Given the description of an element on the screen output the (x, y) to click on. 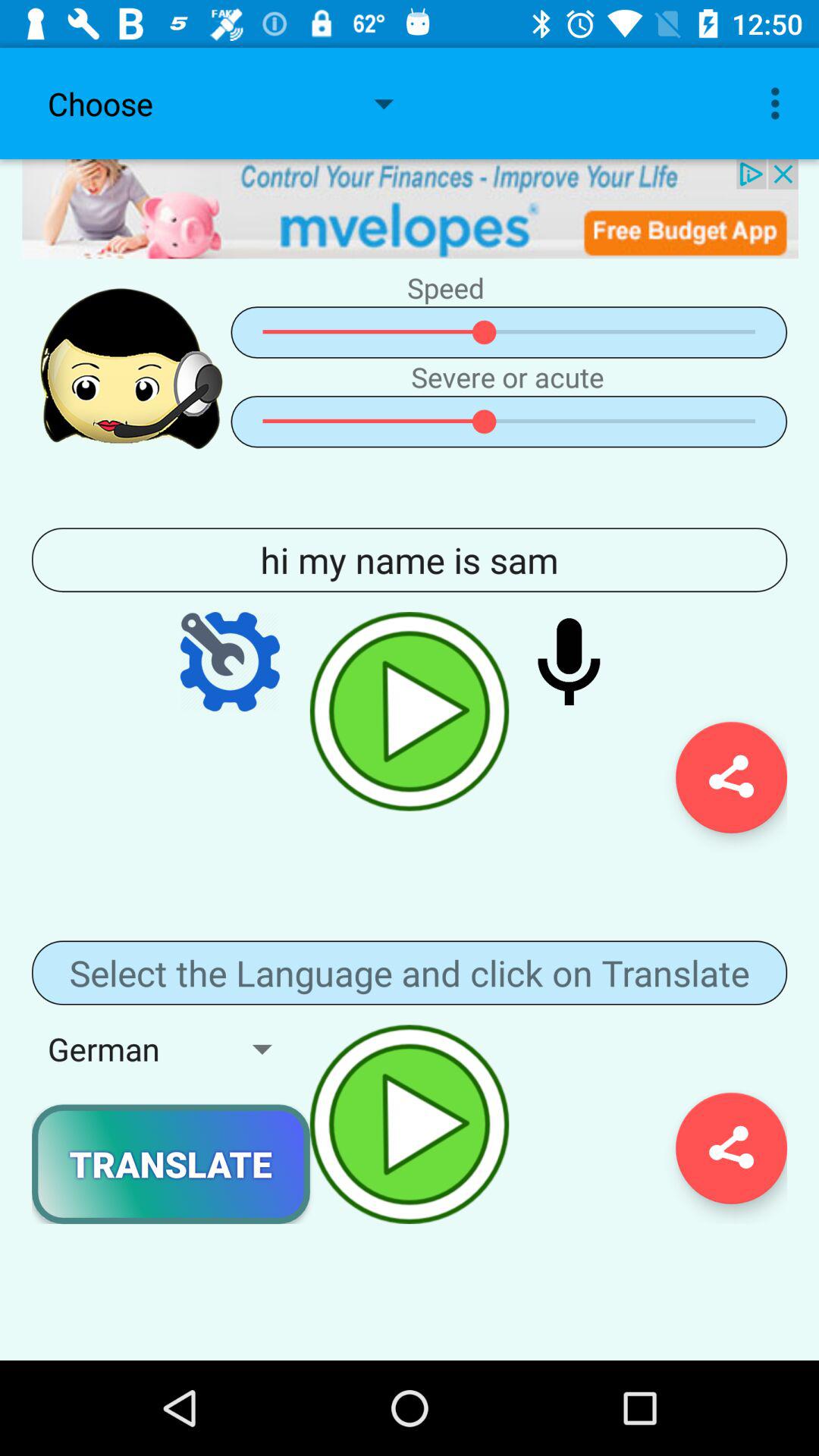
go to record (568, 661)
